Given the description of an element on the screen output the (x, y) to click on. 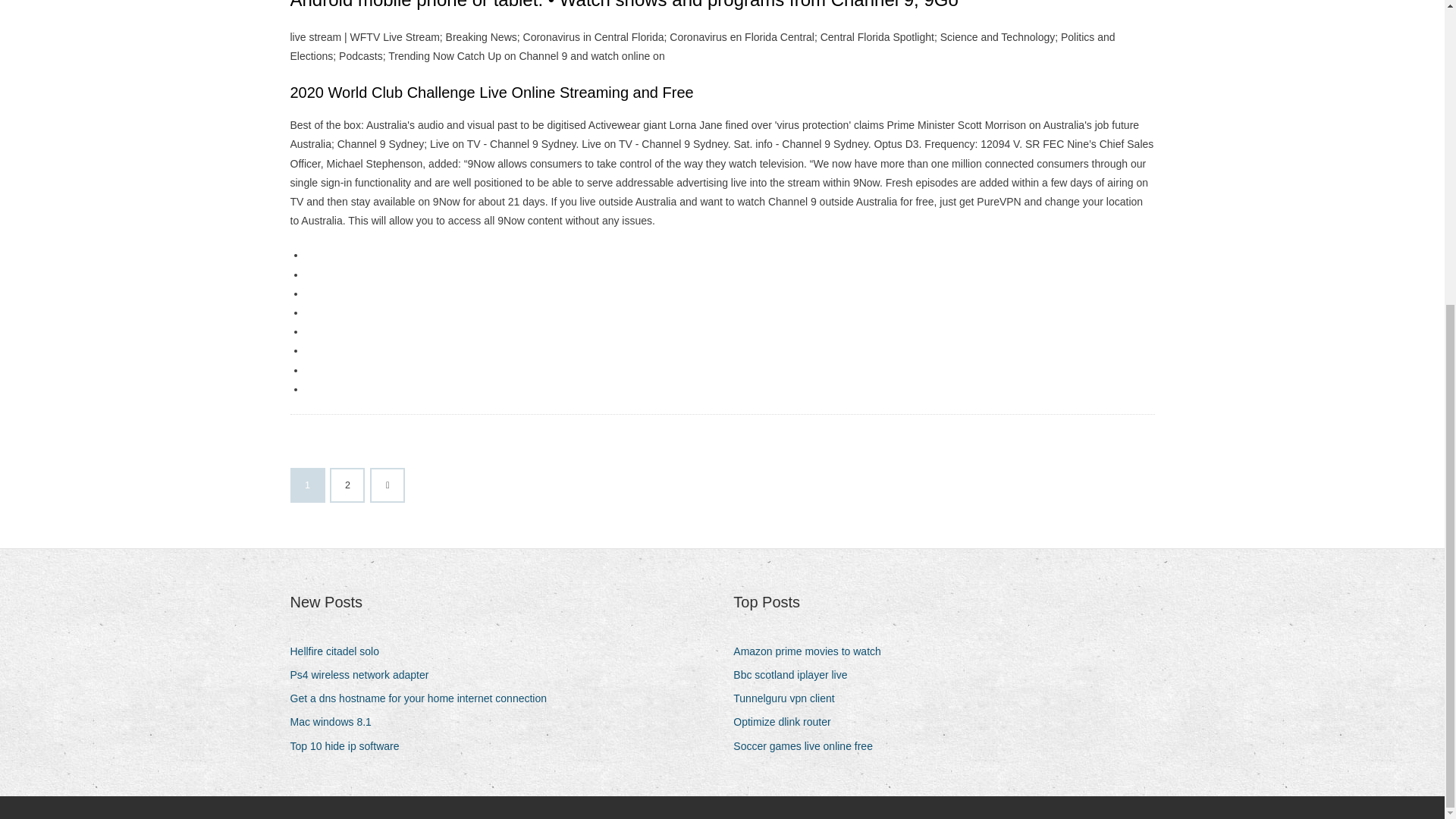
Tunnelguru vpn client (789, 698)
Amazon prime movies to watch (812, 651)
2 (346, 485)
Top 10 hide ip software (349, 746)
Soccer games live online free (808, 746)
Hellfire citadel solo (339, 651)
Bbc scotland iplayer live (796, 675)
Optimize dlink router (787, 721)
Get a dns hostname for your home internet connection (423, 698)
Mac windows 8.1 (335, 721)
